Given the description of an element on the screen output the (x, y) to click on. 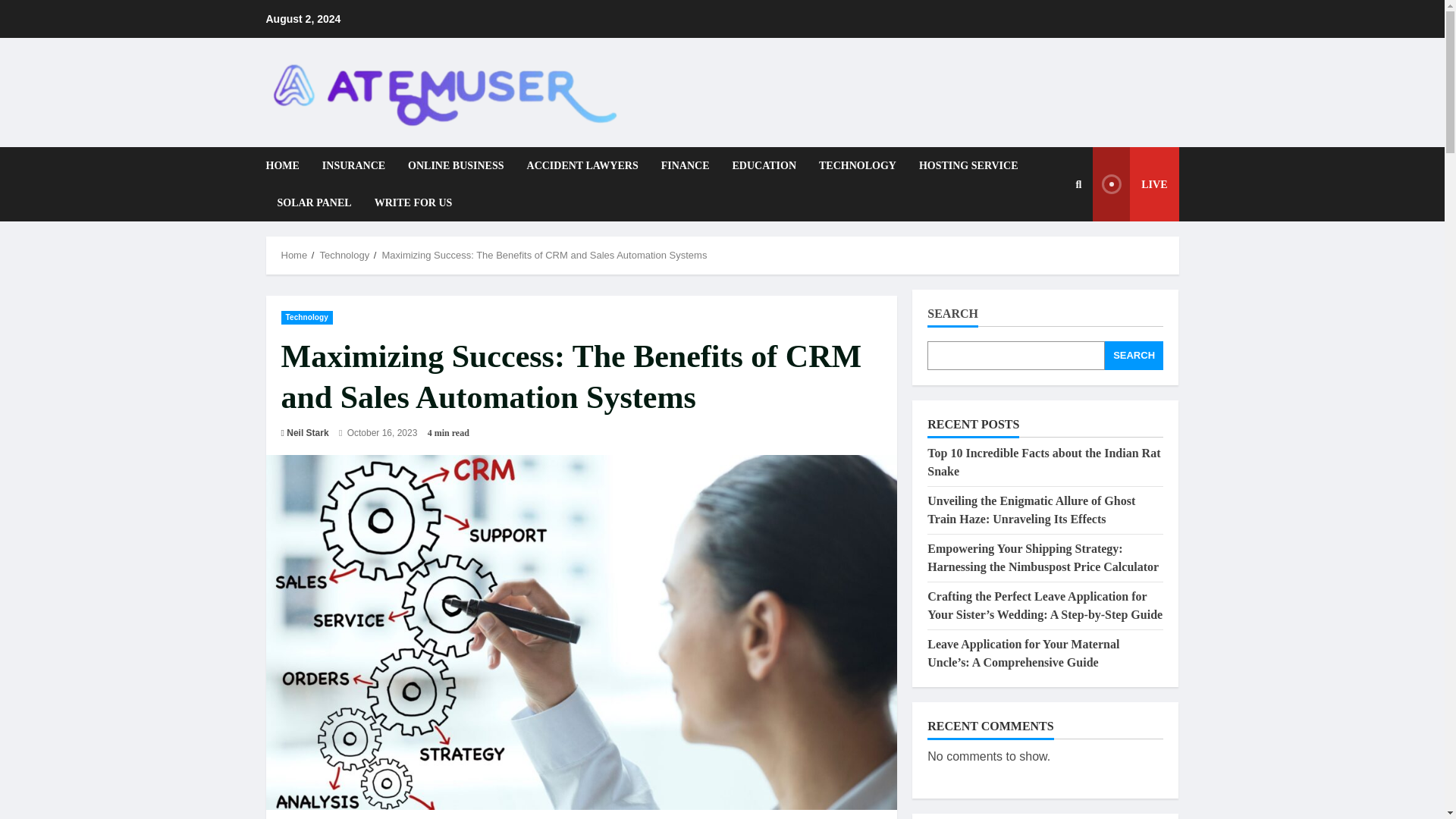
HOSTING SERVICE (968, 165)
Neil Stark (307, 432)
SOLAR PANEL (313, 202)
WRITE FOR US (407, 202)
EDUCATION (764, 165)
ACCIDENT LAWYERS (582, 165)
TECHNOLOGY (857, 165)
FINANCE (684, 165)
Home (294, 255)
INSURANCE (353, 165)
LIVE (1135, 184)
Search (1042, 262)
HOME (287, 165)
ONLINE BUSINESS (455, 165)
Technology (343, 255)
